Given the description of an element on the screen output the (x, y) to click on. 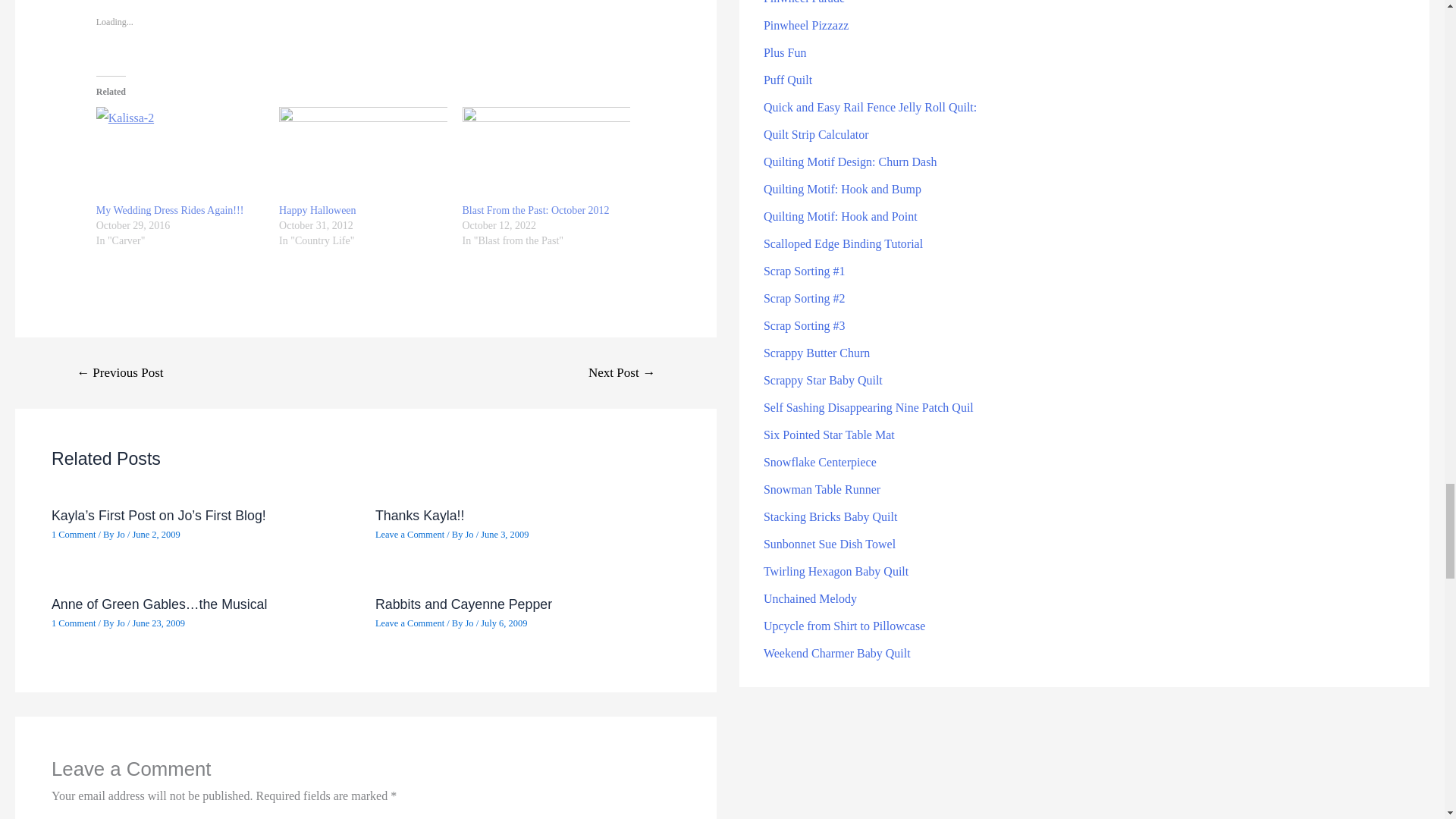
My Wedding Dress Rides Again!!! (179, 155)
View all posts by Jo (122, 623)
View all posts by Jo (470, 623)
Blast From the Past:  October 2012 (536, 210)
Happy Halloween (317, 210)
Blast From the Past:  October 2012 (546, 155)
View all posts by Jo (470, 534)
View all posts by Jo (122, 534)
My Wedding Dress Rides Again!!! (170, 210)
Happy Halloween (362, 155)
